Given the description of an element on the screen output the (x, y) to click on. 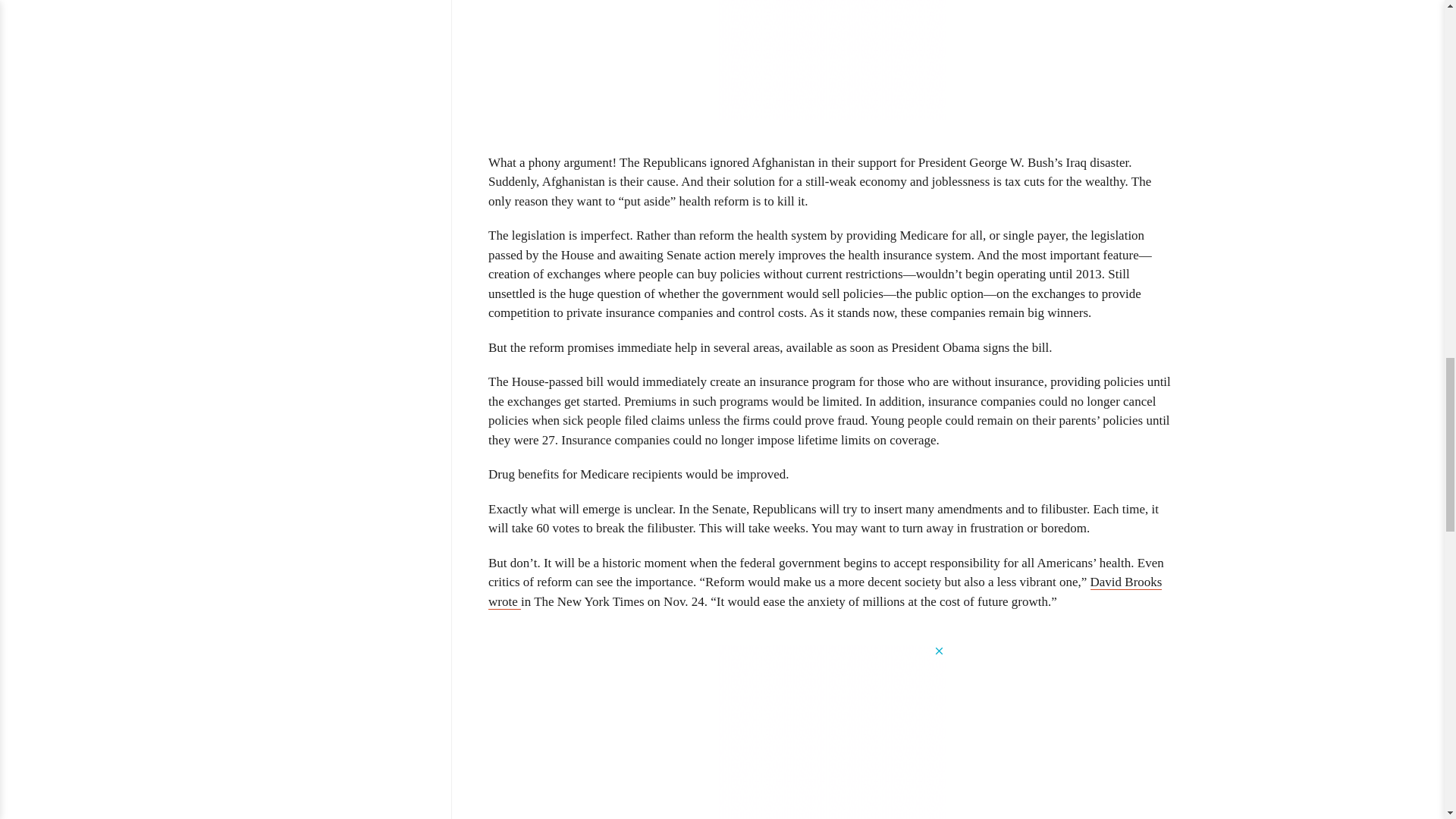
3rd party ad content (830, 731)
3rd party ad content (830, 59)
